Given the description of an element on the screen output the (x, y) to click on. 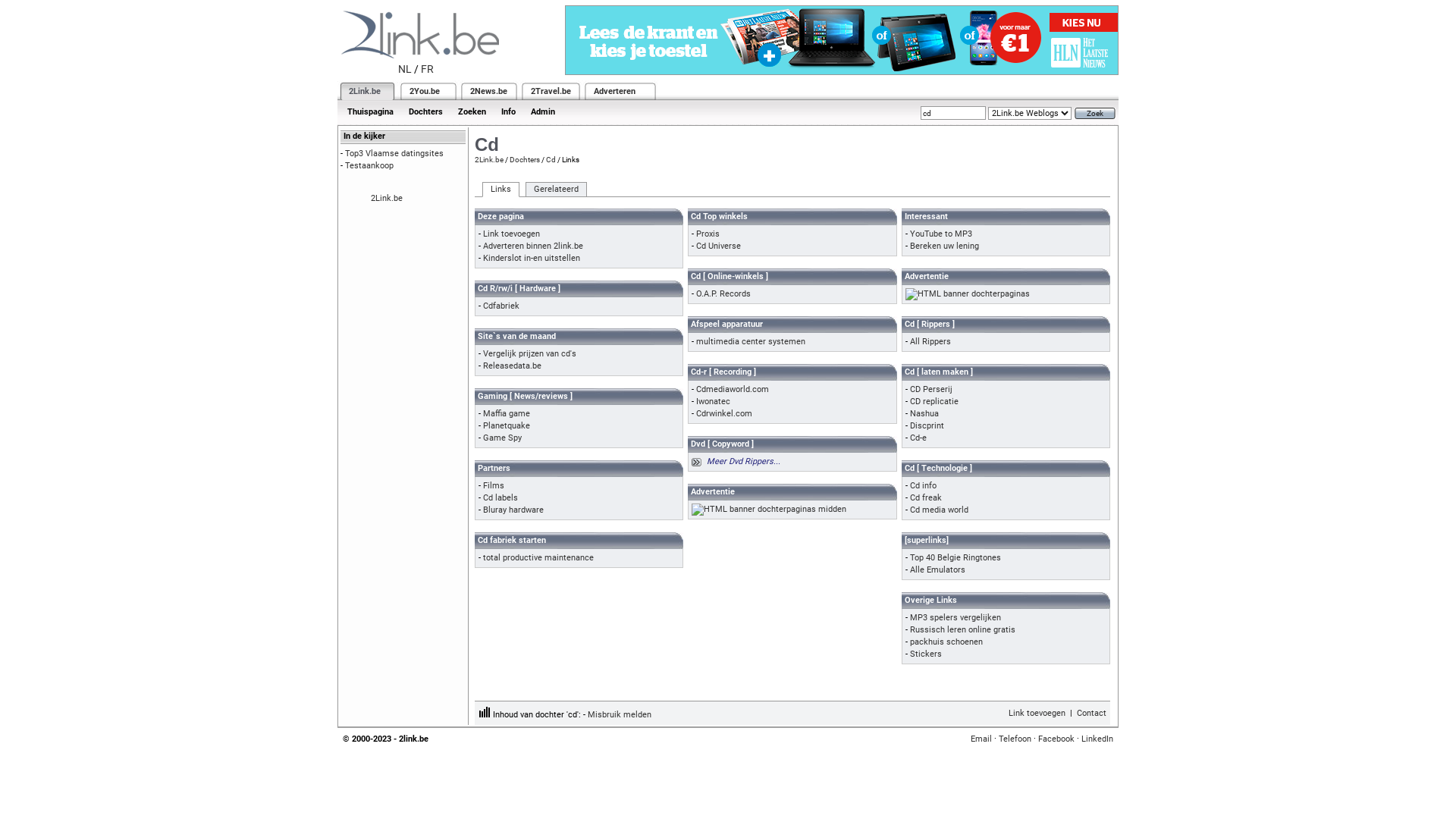
Top 40 Belgie Ringtones Element type: text (955, 557)
Links Element type: text (500, 189)
Gerelateerd Element type: text (555, 189)
Bereken uw lening Element type: text (944, 246)
Proxis Element type: text (707, 233)
Alle Emulators Element type: text (937, 569)
Cd info Element type: text (923, 485)
Facebook Element type: text (1056, 738)
Cd media world Element type: text (939, 509)
FR Element type: text (426, 68)
Adverteren binnen 2link.be Element type: text (533, 246)
Cd freak Element type: text (925, 497)
Zoek Element type: text (1094, 113)
Thuispagina Element type: text (370, 111)
Iwonatec Element type: text (713, 401)
Email Element type: text (980, 738)
2You.be Element type: text (424, 91)
Dochters Element type: text (425, 111)
Bluray hardware Element type: text (513, 509)
Films Element type: text (493, 485)
2Link.be Element type: text (488, 159)
Cd Universe Element type: text (718, 246)
All Rippers Element type: text (930, 341)
O.A.P. Records Element type: text (723, 293)
packhuis schoenen Element type: text (946, 641)
Link toevoegen Element type: text (1036, 713)
Kinderslot in-en uitstellen Element type: text (531, 258)
YouTube to MP3 Element type: text (941, 233)
Top3 Vlaamse datingsites Element type: text (394, 153)
Planetquake Element type: text (506, 425)
Vergelijk prijzen van cd's Element type: text (529, 353)
LinkedIn Element type: text (1097, 738)
Contact Element type: text (1091, 713)
2Link.be Element type: text (364, 91)
Admin Element type: text (542, 111)
2Travel.be Element type: text (550, 91)
Cdmediaworld.com Element type: text (732, 389)
Cd Element type: text (550, 159)
Info Element type: text (508, 111)
multimedia center systemen Element type: text (750, 341)
Dochters Element type: text (524, 159)
2News.be Element type: text (488, 91)
Cd-e Element type: text (918, 437)
NL Element type: text (404, 68)
Nashua Element type: text (924, 413)
CD Perserij Element type: text (931, 389)
Stickers Element type: text (925, 653)
Misbruik melden Element type: text (619, 714)
Maffia game Element type: text (506, 413)
Adverteren Element type: text (614, 91)
Link toevoegen Element type: text (511, 233)
CD replicatie Element type: text (934, 401)
MP3 spelers vergelijken Element type: text (955, 617)
Cd labels Element type: text (500, 497)
Cdfabriek Element type: text (501, 305)
Meer Dvd Rippers... Element type: text (743, 461)
Telefoon Element type: text (1014, 738)
Zoeken Element type: text (471, 111)
Releasedata.be Element type: text (512, 365)
total productive maintenance Element type: text (538, 557)
Discprint Element type: text (927, 425)
Cdrwinkel.com Element type: text (724, 413)
Russisch leren online gratis Element type: text (962, 629)
Game Spy Element type: text (502, 437)
2Link.be Element type: text (386, 198)
Testaankoop Element type: text (369, 165)
